Given the description of an element on the screen output the (x, y) to click on. 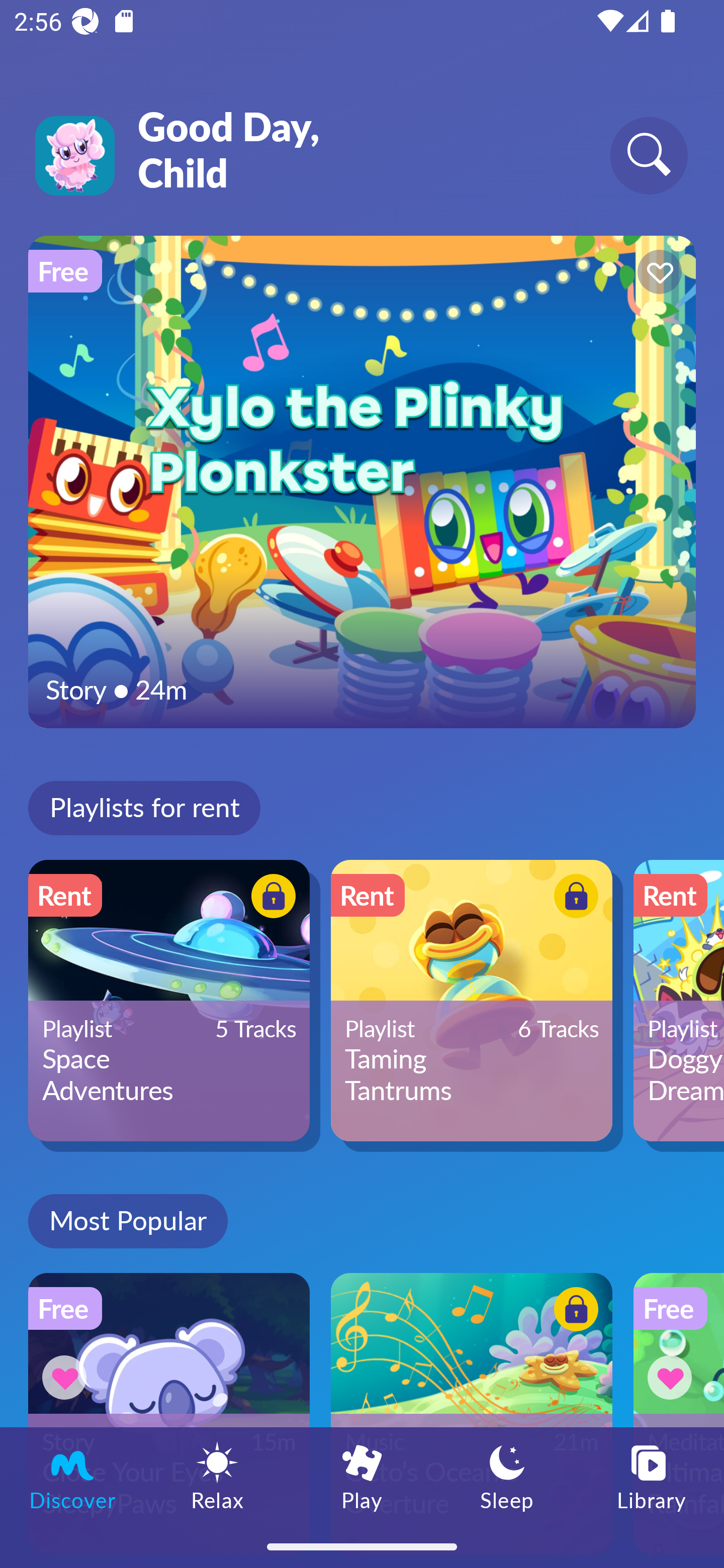
Good Day, 
Child Search (362, 106)
Search (648, 154)
Featured Content Free Button Story ● 24m (361, 481)
Button (656, 274)
Button (269, 898)
Button (573, 898)
Button (573, 1312)
Button (67, 1377)
Button (672, 1377)
Relax (216, 1475)
Play (361, 1475)
Sleep (506, 1475)
Library (651, 1475)
